Given the description of an element on the screen output the (x, y) to click on. 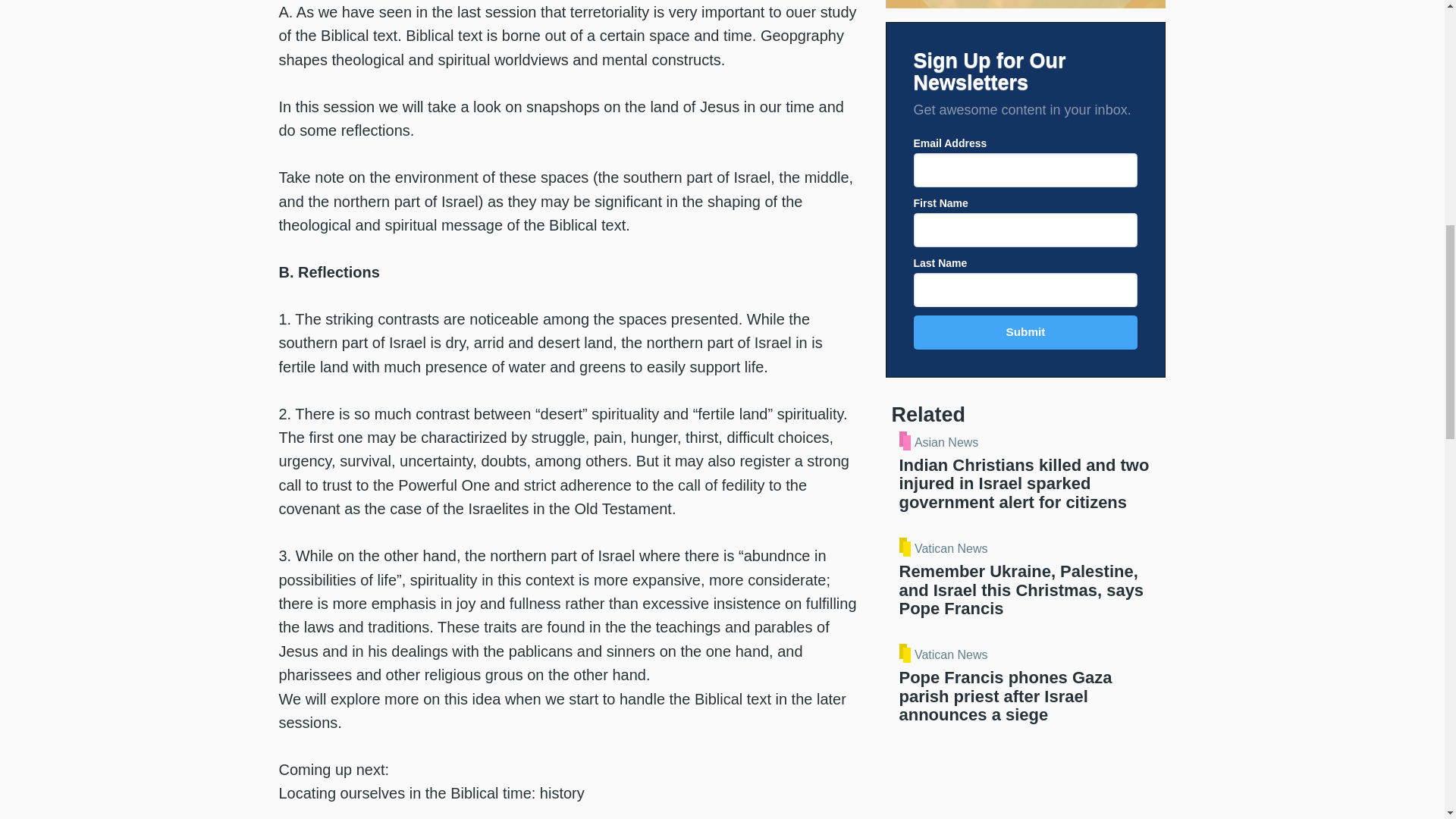
Submit (1024, 332)
